Given the description of an element on the screen output the (x, y) to click on. 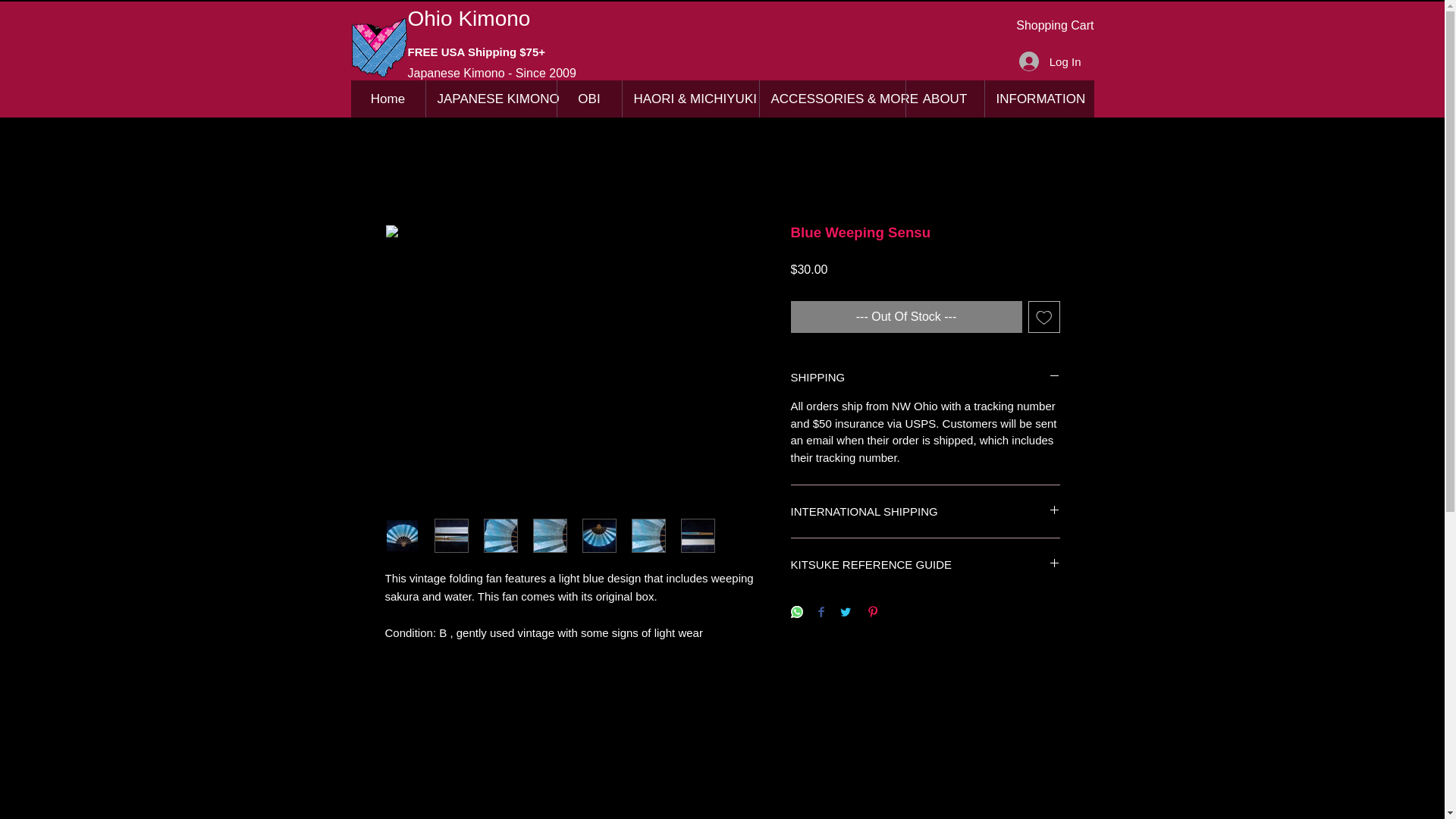
JAPANESE KIMONO (490, 98)
Home (387, 98)
Shopping Cart (1054, 24)
OBI (588, 98)
Log In (1050, 61)
Ohio Kimono, LLC (378, 47)
